Given the description of an element on the screen output the (x, y) to click on. 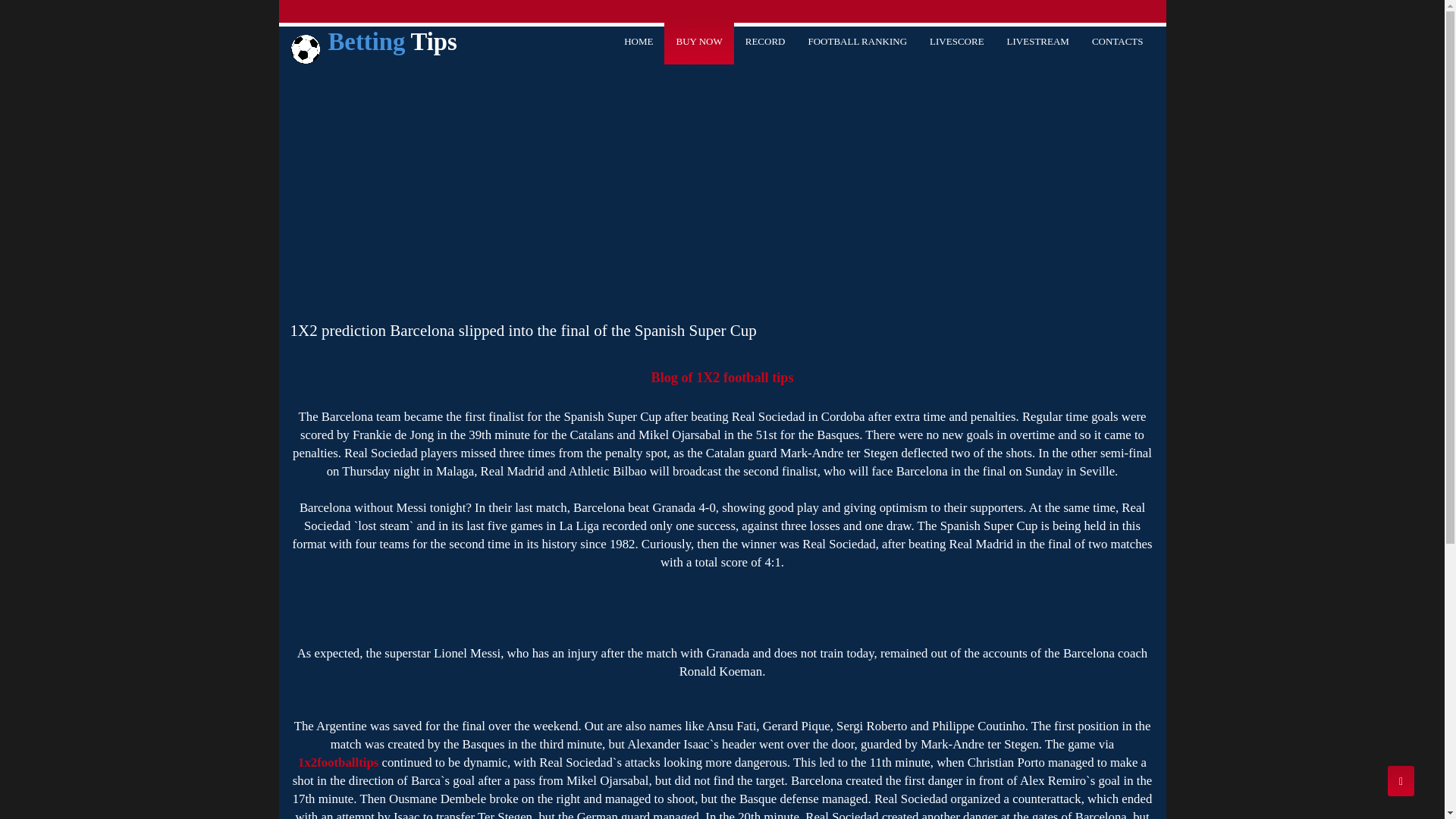
Blog of 1X2 football tips Element type: text (722, 377)
BUY NOW Element type: text (698, 41)
BettingTips Element type: text (373, 45)
CONTACTS Element type: text (1117, 41)
HOME Element type: text (638, 41)
FOOTBALL RANKING Element type: text (857, 41)
LIVESCORE Element type: text (956, 41)
RECORD Element type: text (765, 41)
1x2footballtips Element type: text (338, 762)
LIVESTREAM Element type: text (1037, 41)
